Given the description of an element on the screen output the (x, y) to click on. 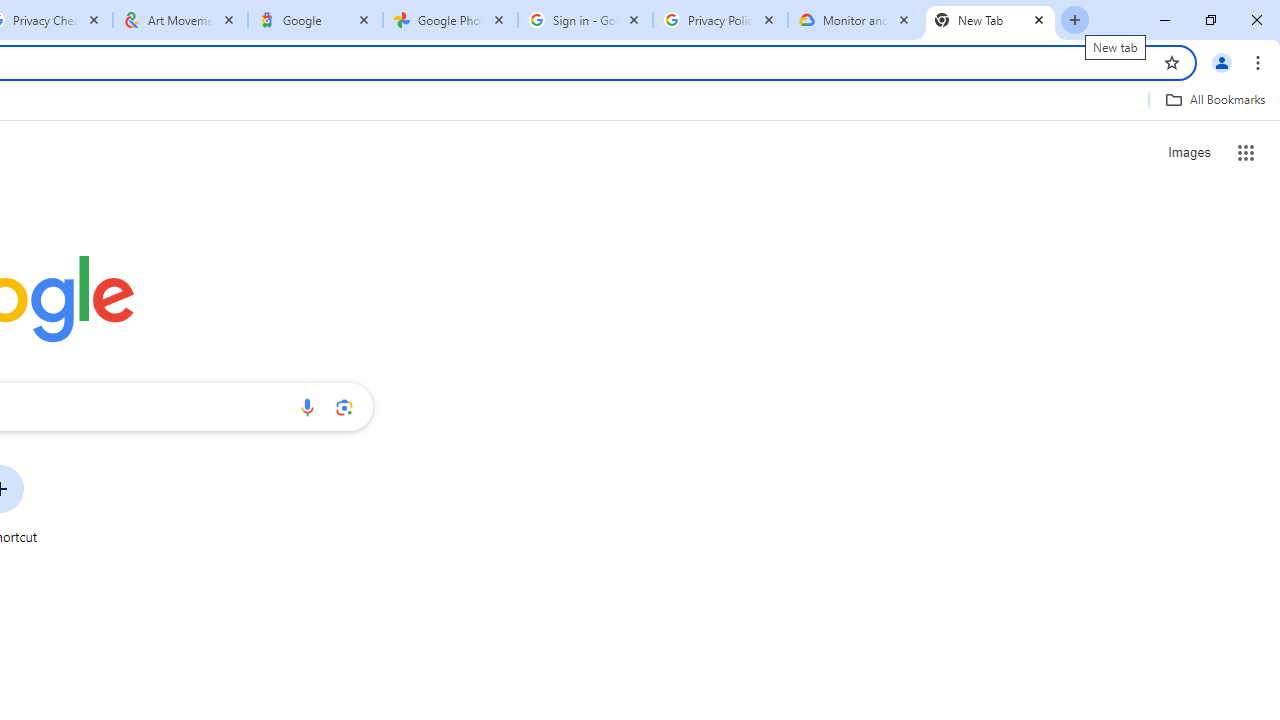
New Tab (990, 20)
Sign in - Google Accounts (585, 20)
